Given the description of an element on the screen output the (x, y) to click on. 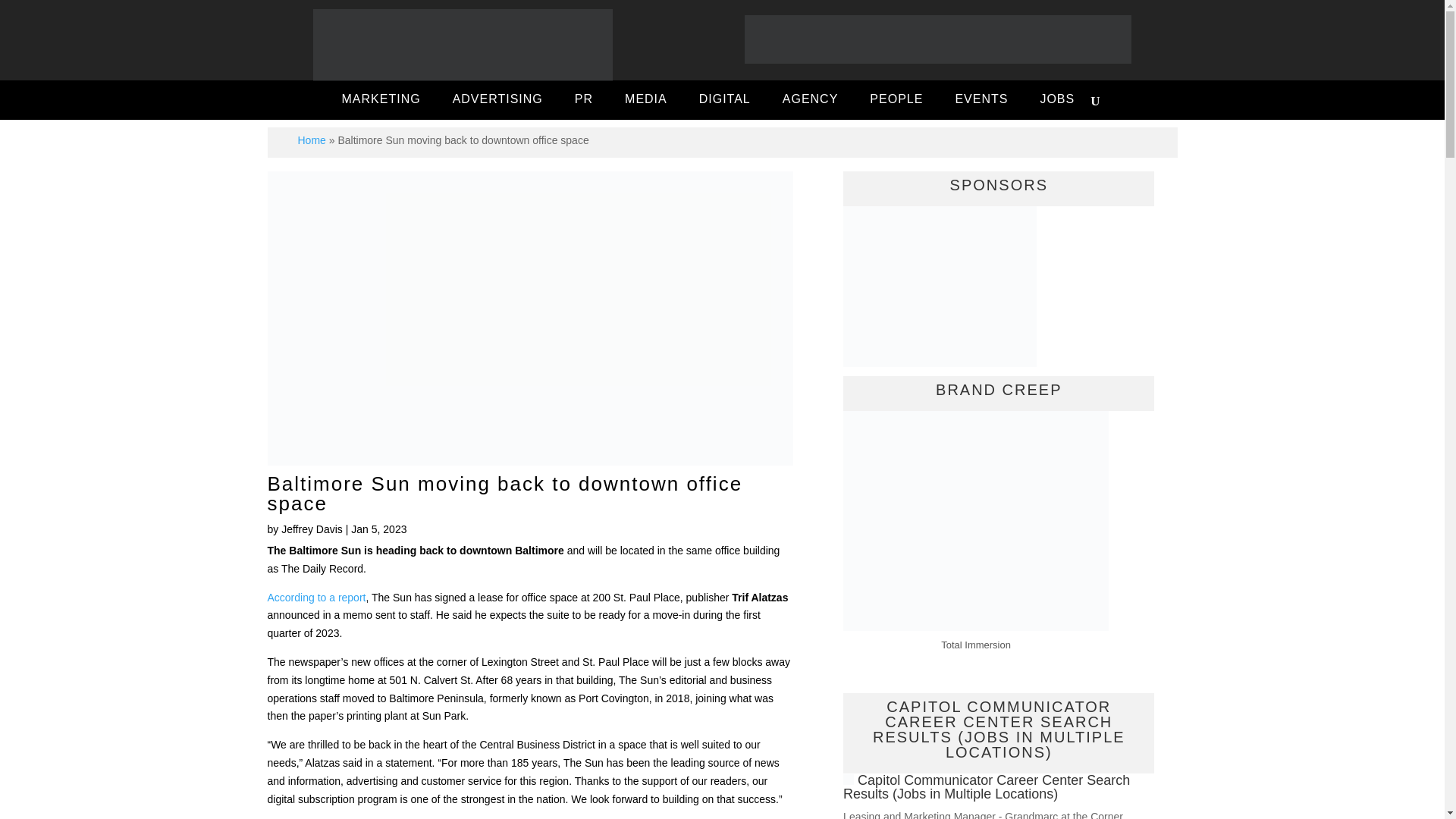
MARKETING (381, 100)
EVENTS (980, 100)
Williams Whittle (939, 286)
PR (583, 100)
Home (310, 140)
JOBS (1056, 100)
AGENCY (809, 100)
Jeffrey Davis (311, 529)
MEDIA (646, 100)
Posts by Jeffrey Davis (311, 529)
ADVERTISING (497, 100)
PEOPLE (895, 100)
DIGITAL (724, 100)
According to a report (315, 597)
